Given the description of an element on the screen output the (x, y) to click on. 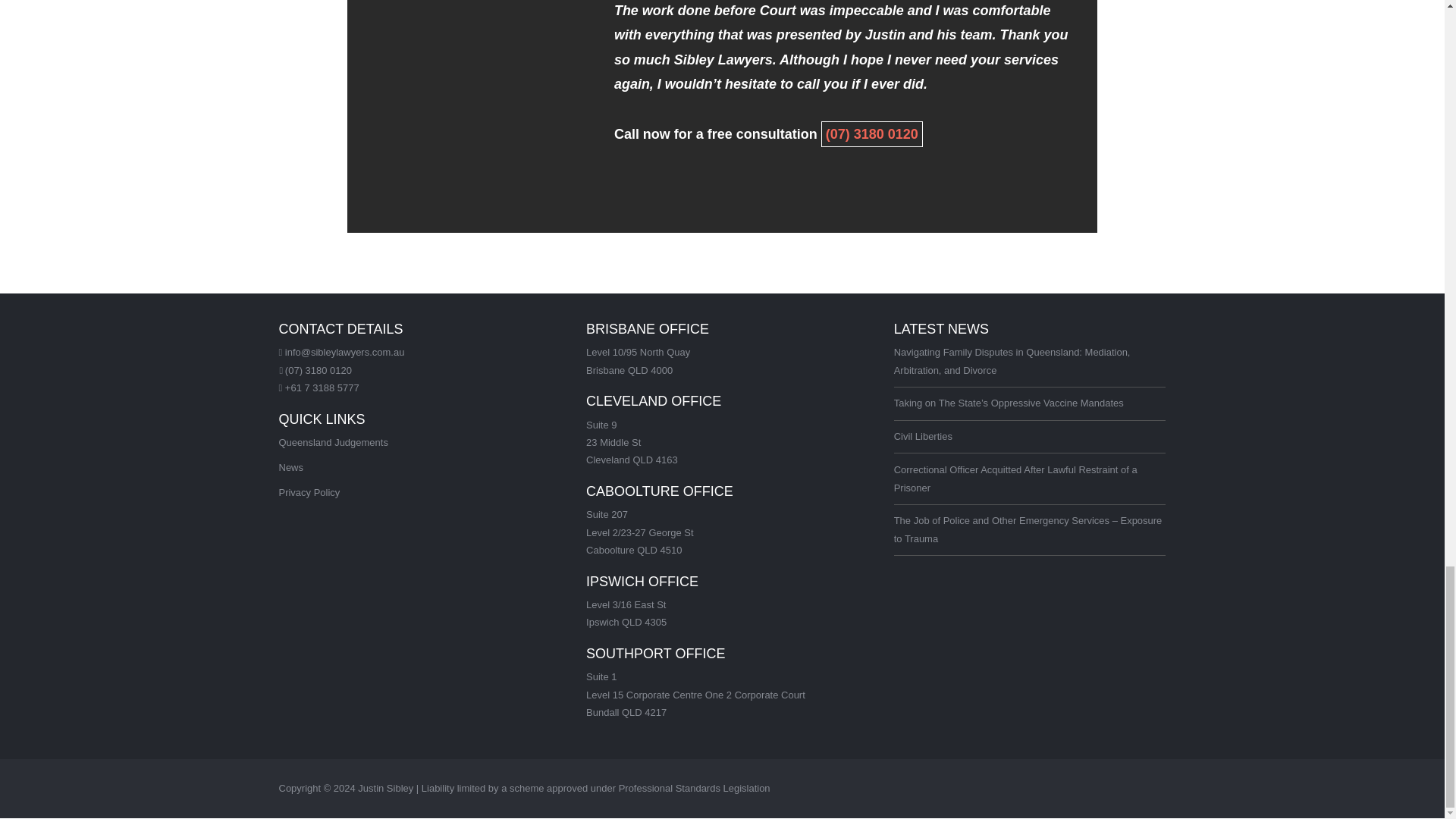
News (290, 467)
LATEST NEWS (940, 328)
Civil Liberties (922, 436)
Privacy Policy (309, 491)
Queensland Judgements (333, 441)
